Given the description of an element on the screen output the (x, y) to click on. 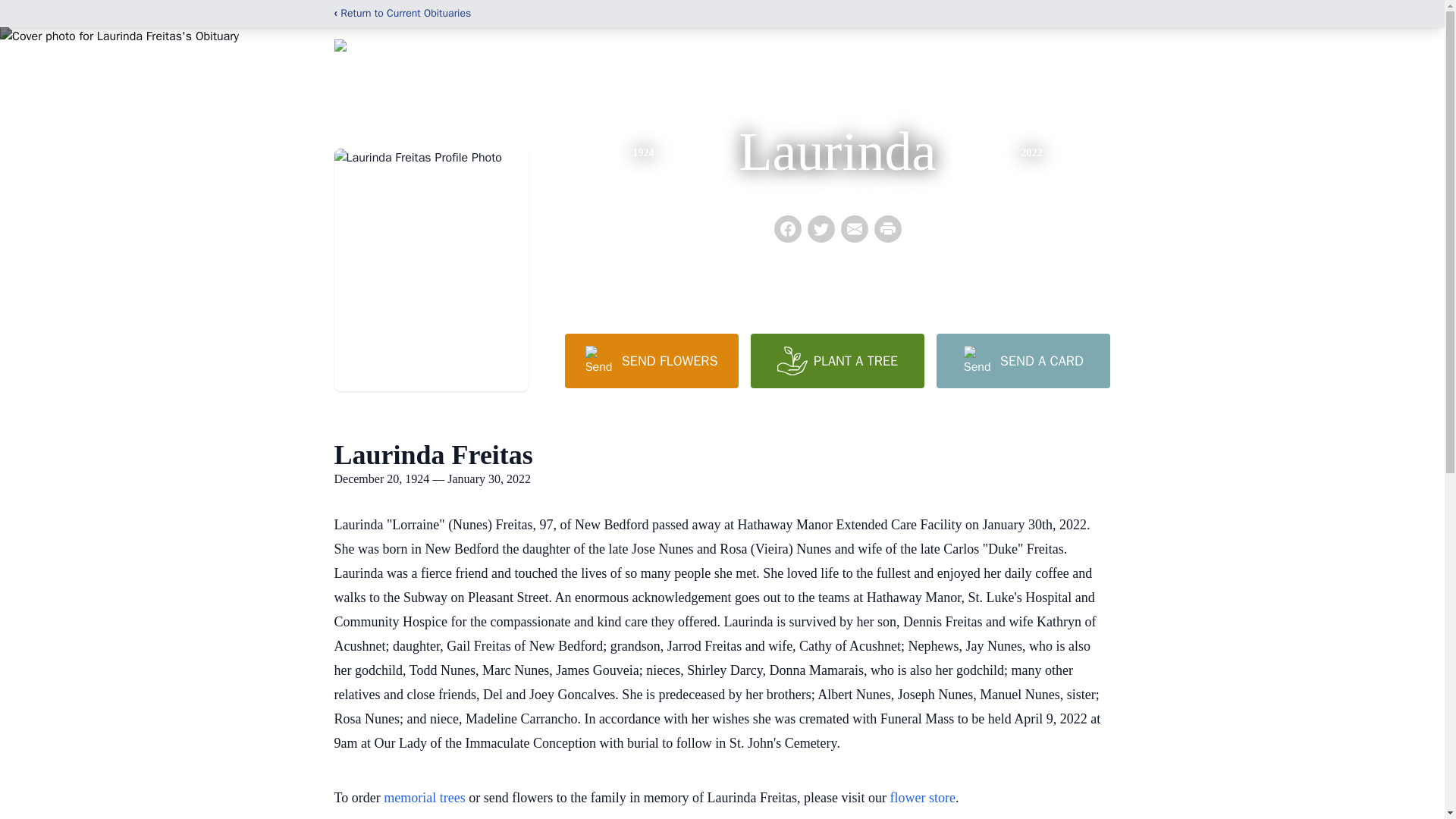
SEND A CARD (1022, 360)
PLANT A TREE (837, 360)
SEND FLOWERS (651, 360)
memorial trees (424, 797)
flower store (922, 797)
